Given the description of an element on the screen output the (x, y) to click on. 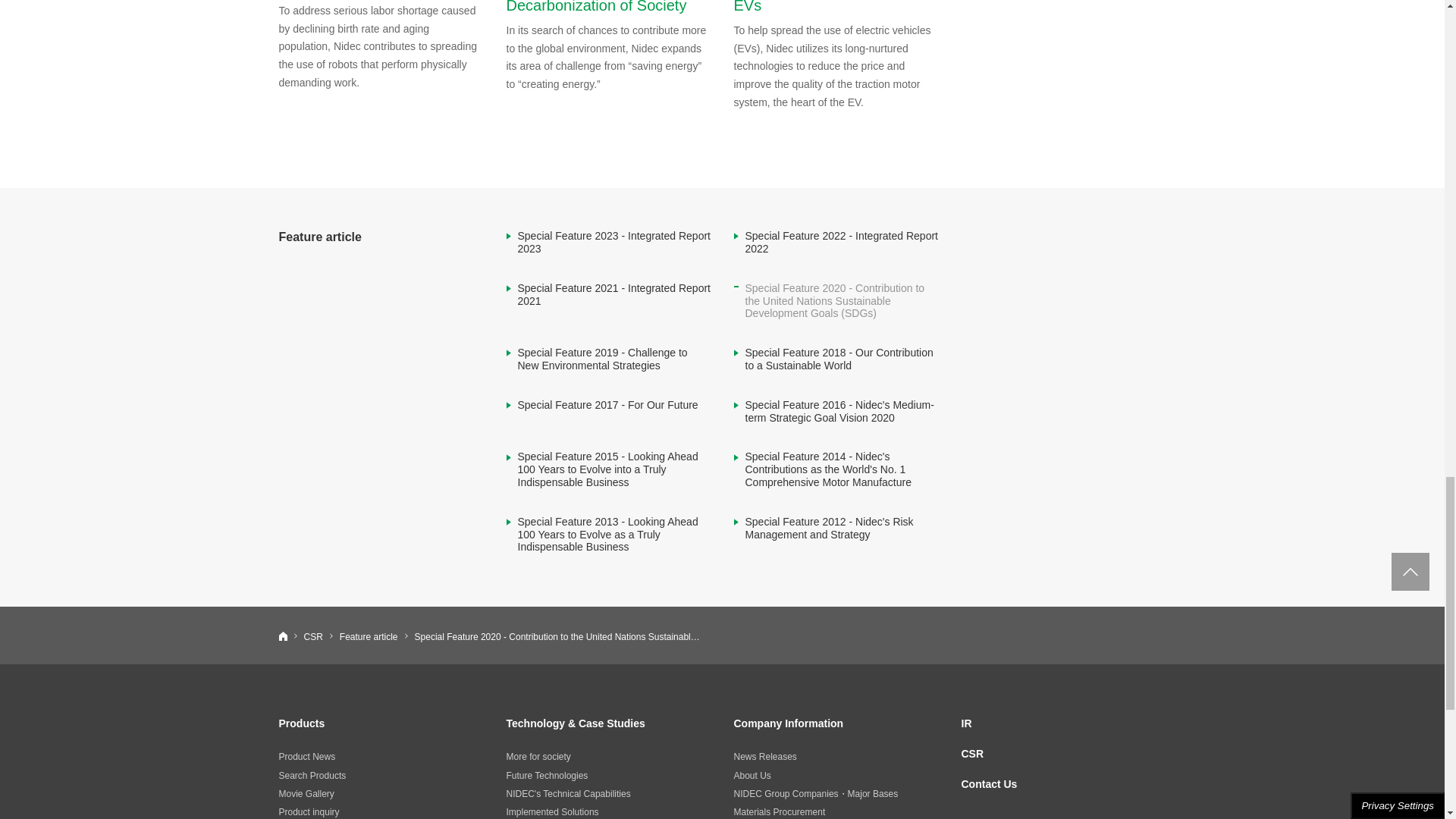
Feature article (368, 636)
Nidec Corporation (282, 635)
CSR (311, 636)
